Given the description of an element on the screen output the (x, y) to click on. 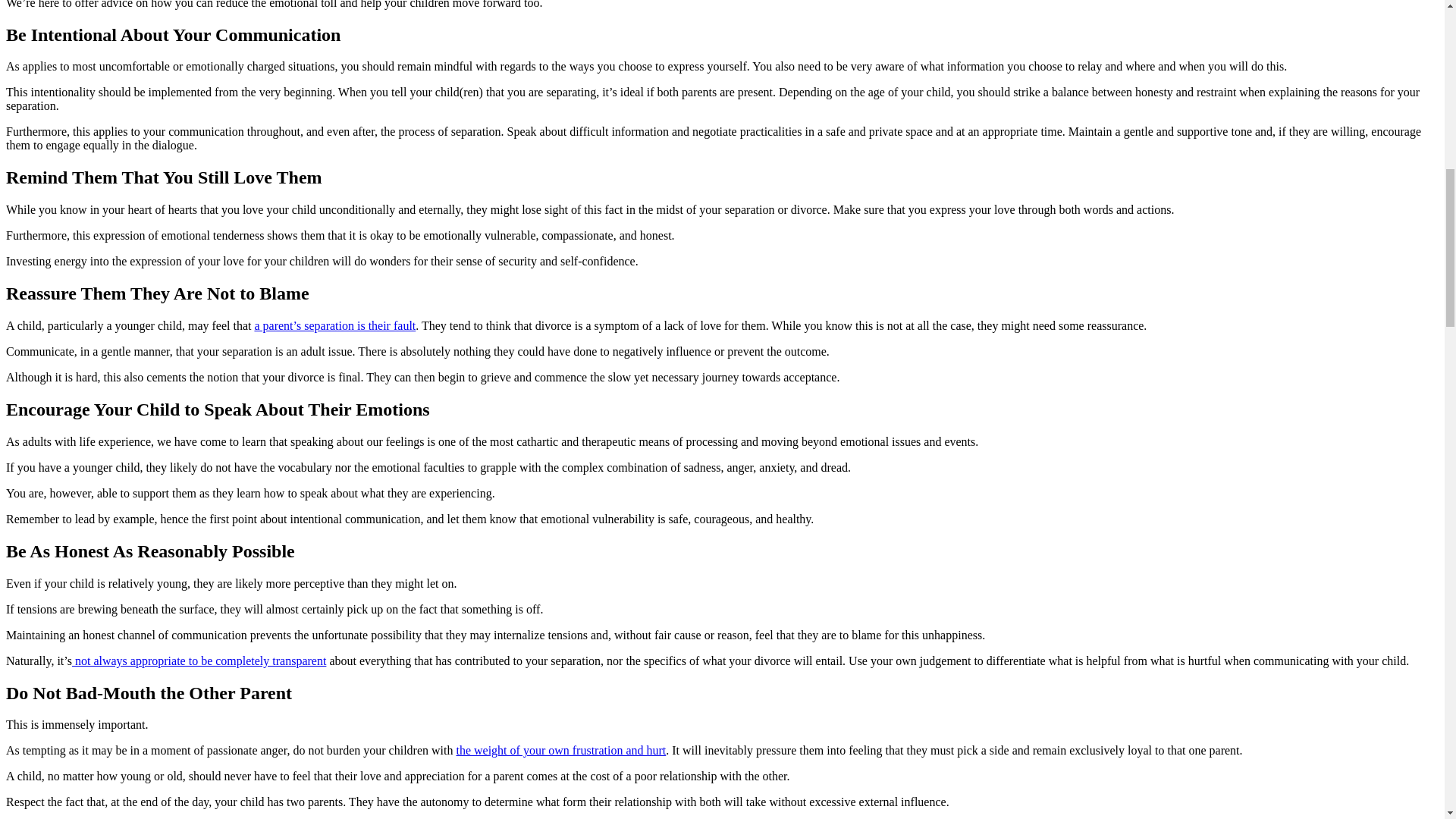
the weight of your own frustration and hurt (560, 749)
not always appropriate to be completely transparent (198, 660)
